Given the description of an element on the screen output the (x, y) to click on. 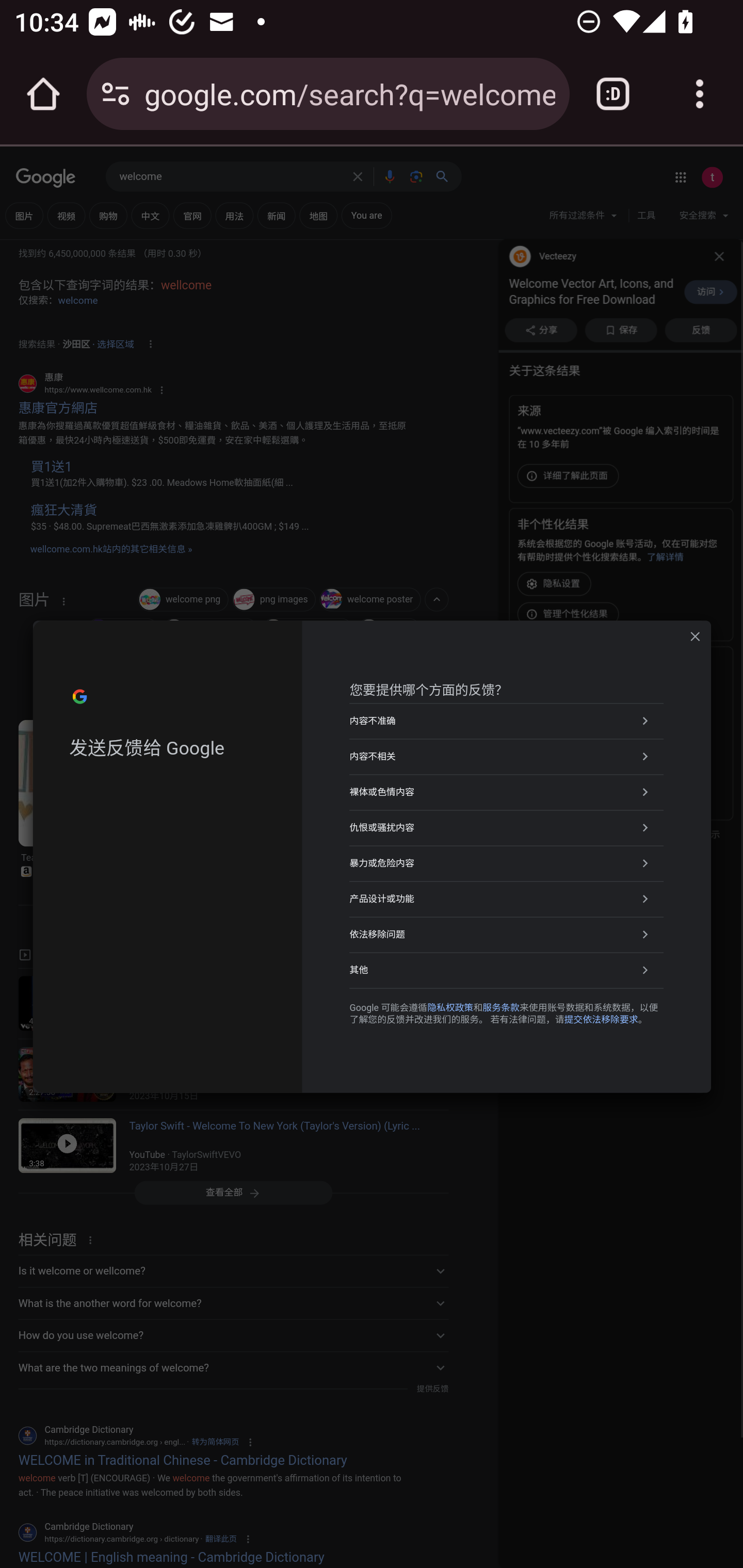
Open the home page (43, 93)
Connection is secure (115, 93)
Switch or close tabs (612, 93)
Customize and control Google Chrome (699, 93)
关闭 (694, 636)
内容不相关 (506, 756)
裸体或色情内容 (506, 791)
仇恨或骚扰内容 (506, 827)
暴力或危险内容 (506, 863)
产品设计或功能 (506, 899)
依法移除问题 (506, 934)
其他 (506, 969)
隐私权政策 (449, 1006)
服务条款 (500, 1006)
提交依法移除要求 (600, 1019)
